Given the description of an element on the screen output the (x, y) to click on. 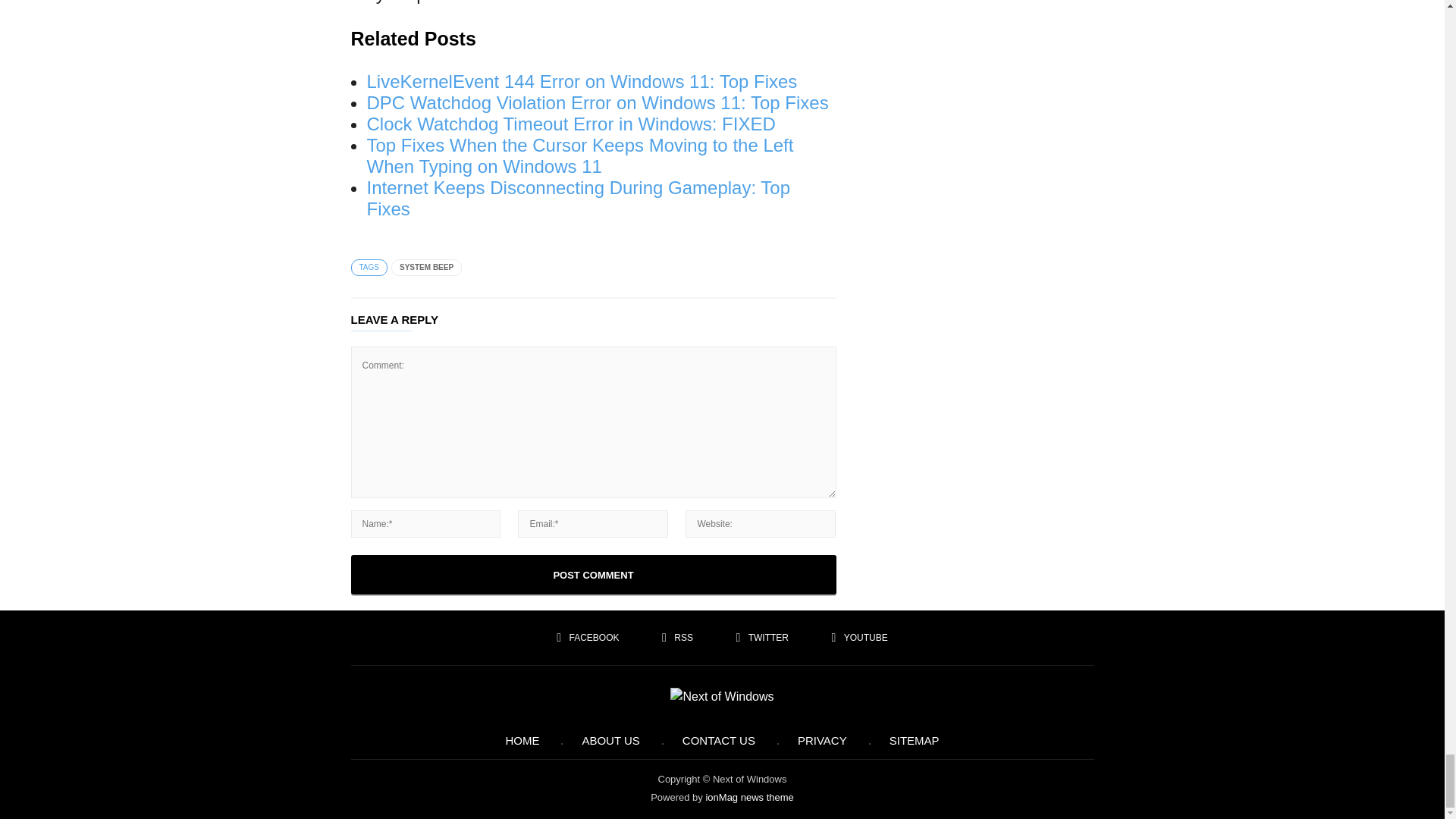
LiveKernelEvent 144 Error on Windows 11: Top Fixes (581, 81)
DPC Watchdog Violation Error on Windows 11: Top Fixes (597, 102)
Post Comment (592, 574)
Clock Watchdog Timeout Error in Windows: FIXED (571, 123)
